Given the description of an element on the screen output the (x, y) to click on. 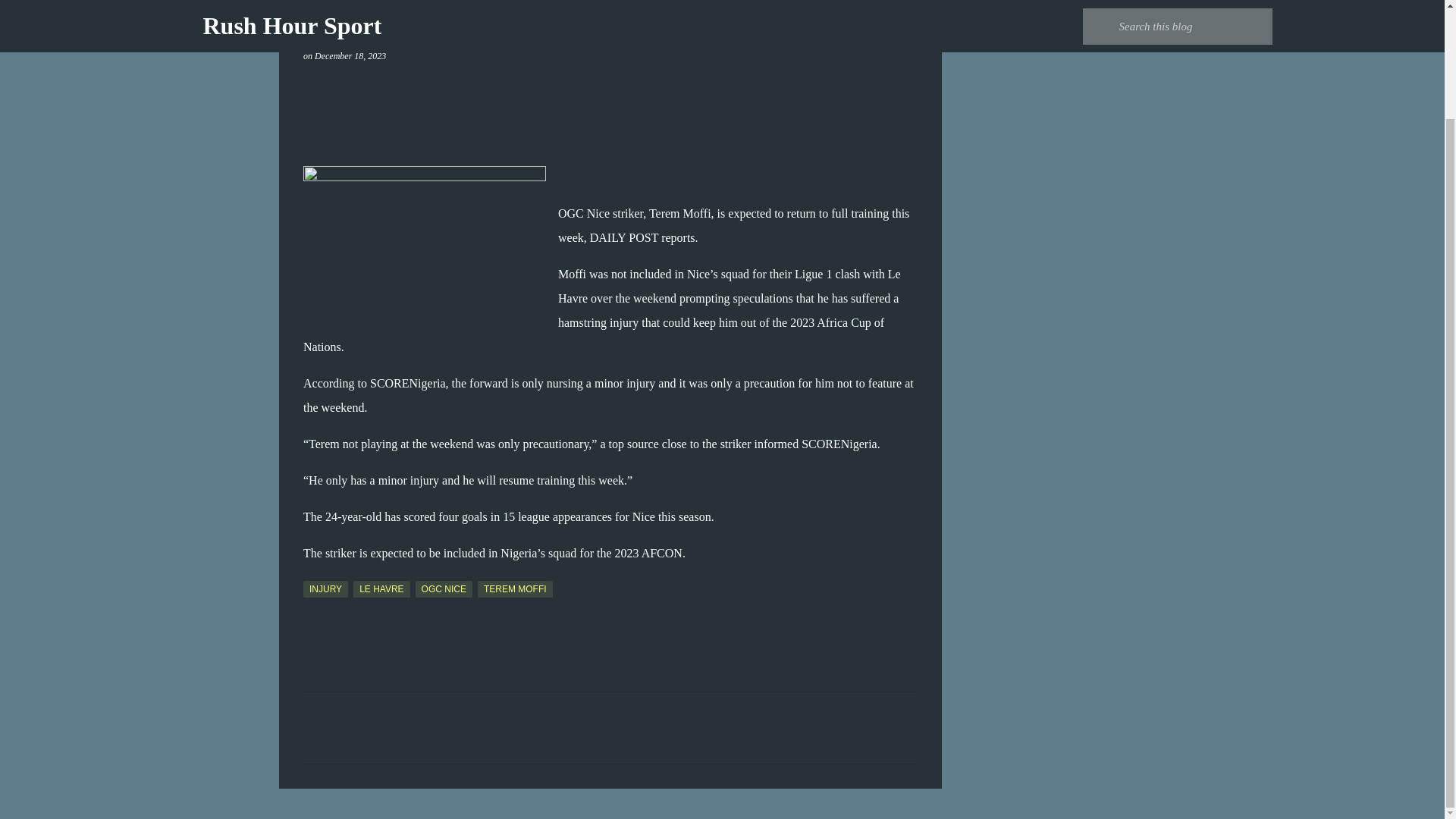
permanent link (349, 55)
OGC NICE (442, 588)
LE HAVRE (381, 588)
TEREM MOFFI (515, 588)
December 18, 2023 (349, 55)
INJURY (324, 588)
